Given the description of an element on the screen output the (x, y) to click on. 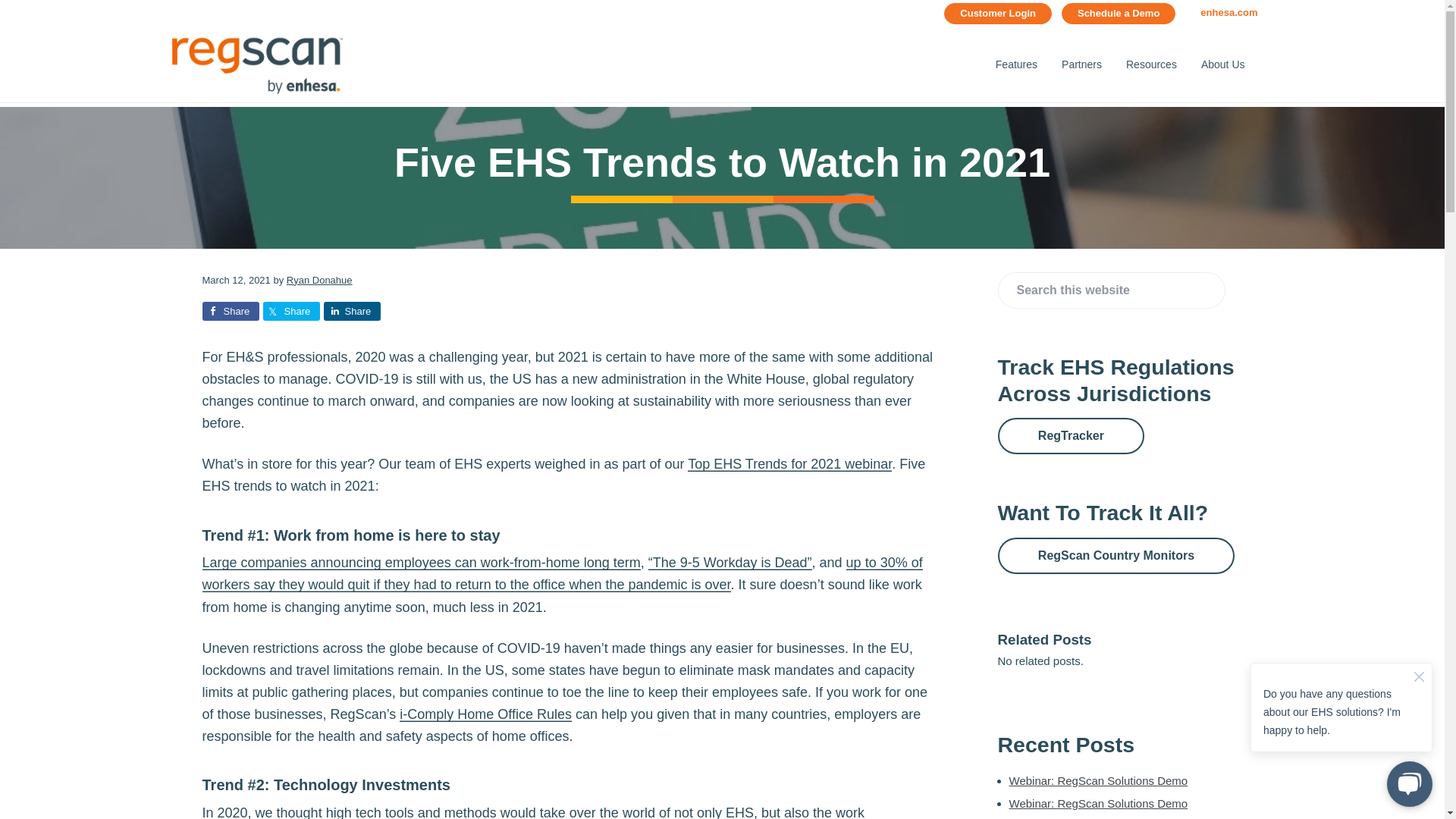
Share (230, 311)
Search (60, 18)
Resources (1150, 64)
Features (1015, 64)
Customer Login (997, 13)
Schedule a Demo (1117, 13)
Ryan Donahue (319, 279)
About Us (1222, 64)
enhesa.com (1228, 13)
Share (290, 311)
Partners (1081, 64)
